Given the description of an element on the screen output the (x, y) to click on. 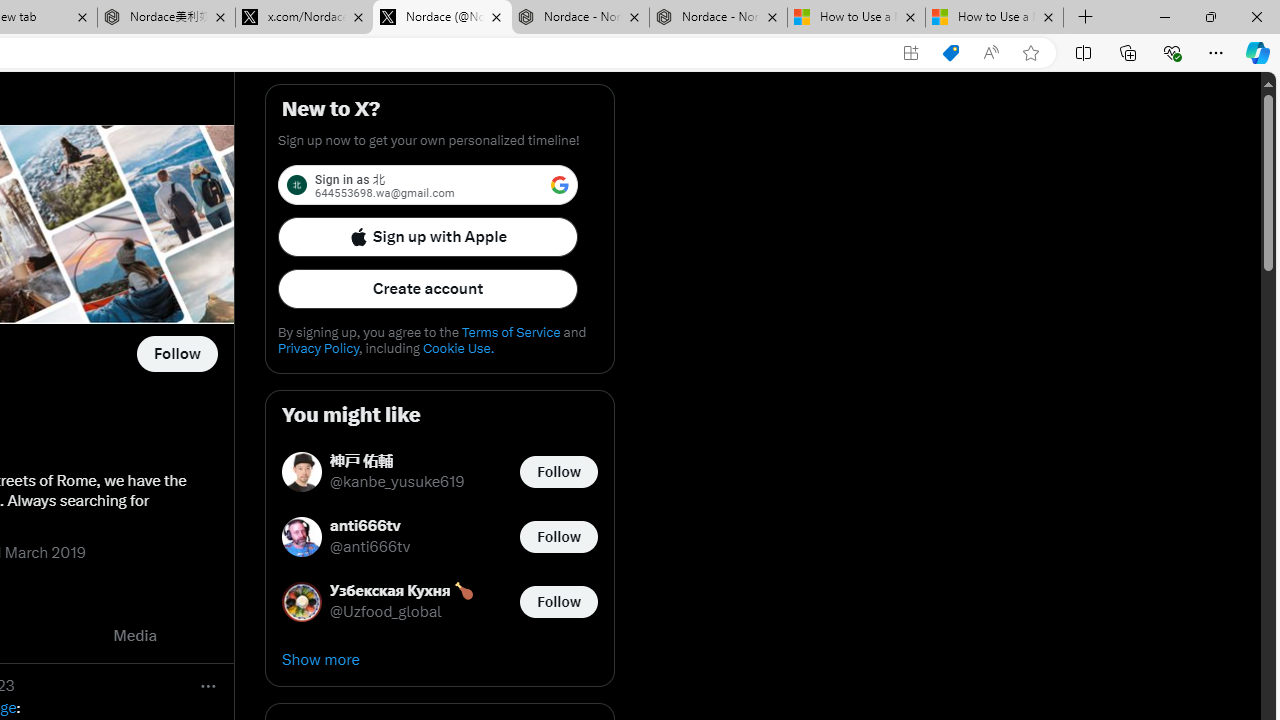
@anti666tv (370, 547)
Cookie Use. (458, 348)
Sign up with Apple (427, 236)
Terms of Service (510, 331)
More (207, 685)
Show more (440, 660)
Next (212, 636)
Privacy Policy (317, 348)
Follow @kanbe_yusuke619 (558, 471)
